Given the description of an element on the screen output the (x, y) to click on. 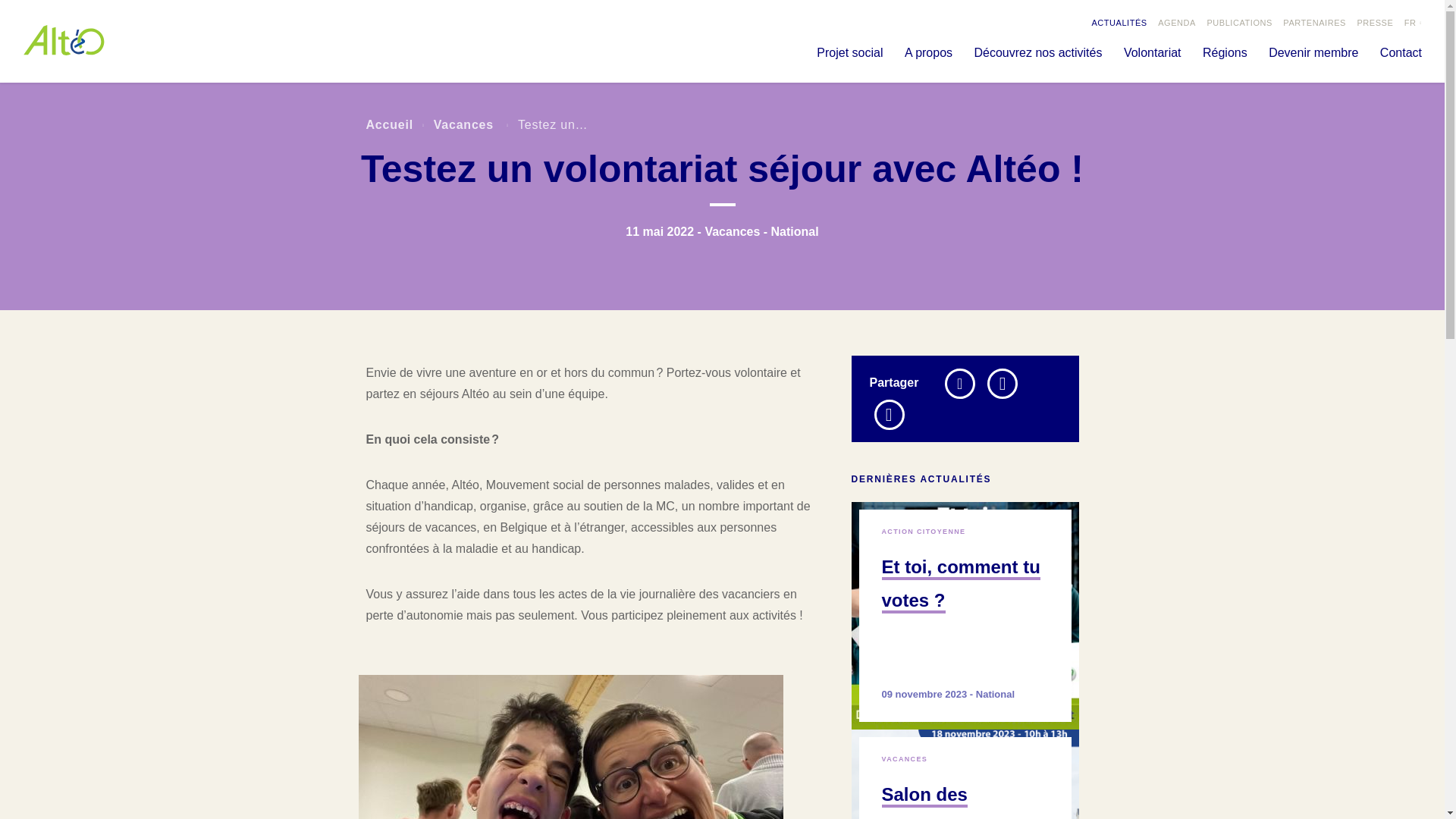
Devenir membre Element type: text (1313, 54)
Vacances Element type: text (465, 125)
A propos Element type: text (928, 54)
PARTAGER PAR E-MAIL Element type: text (888, 414)
PARTENAIRES Element type: text (1314, 22)
PARTAGER SUR TWITTER Element type: text (959, 383)
PRESSE Element type: text (1374, 22)
AGENDA Element type: text (1176, 22)
Volontariat Element type: text (1152, 54)
PUBLICATIONS Element type: text (1238, 22)
ET TOI, COMMENT TU VOTES ? Element type: text (964, 615)
Contact Element type: text (1400, 54)
FR Element type: text (1412, 22)
Accueil Element type: text (389, 125)
PARTAGER SUR FACEBOOK Element type: text (1002, 383)
Projet social Element type: text (849, 54)
